Given the description of an element on the screen output the (x, y) to click on. 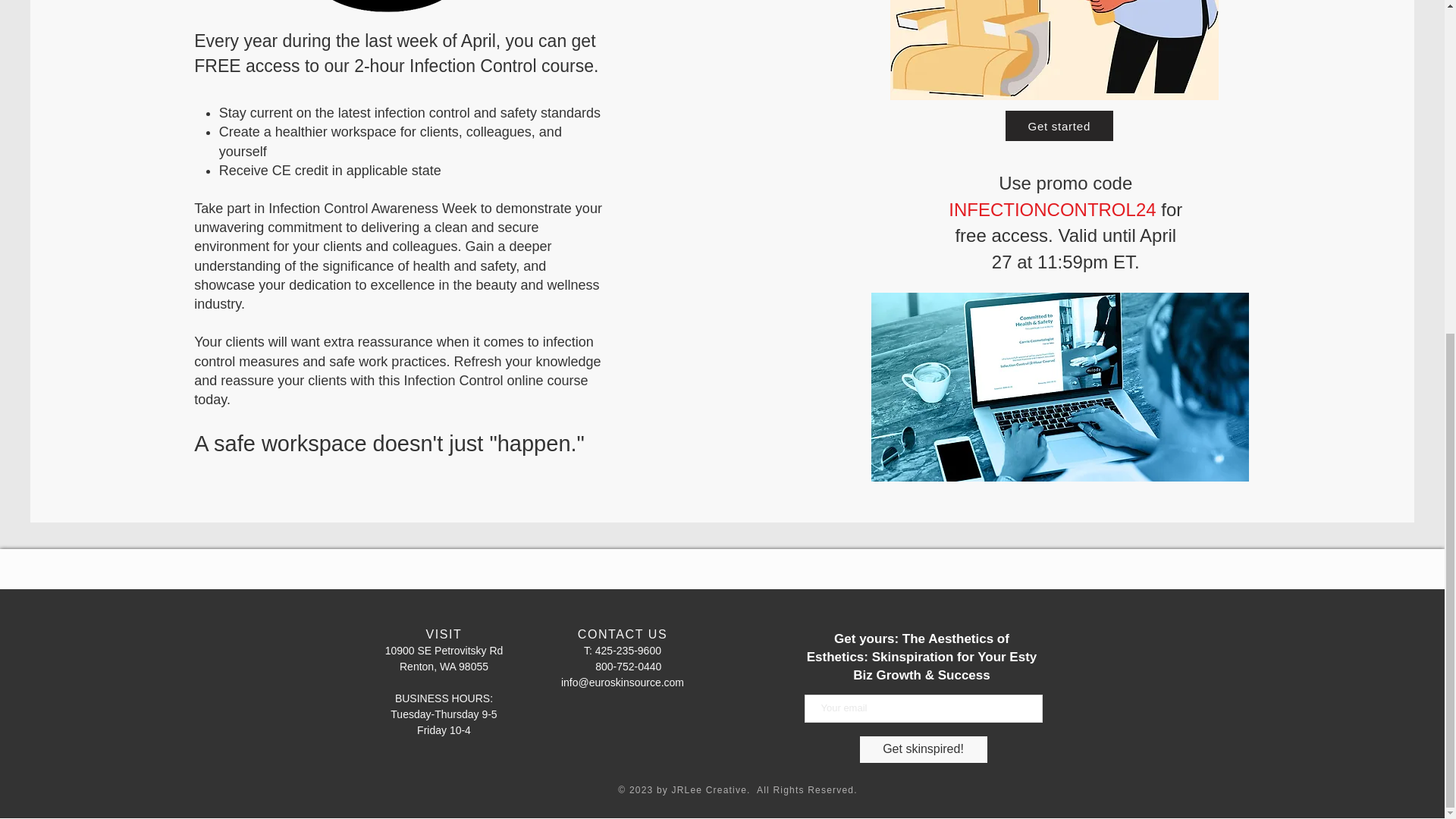
Get started (1059, 125)
Get skinspired! (923, 749)
Infection Control Awareness Week (371, 208)
